Given the description of an element on the screen output the (x, y) to click on. 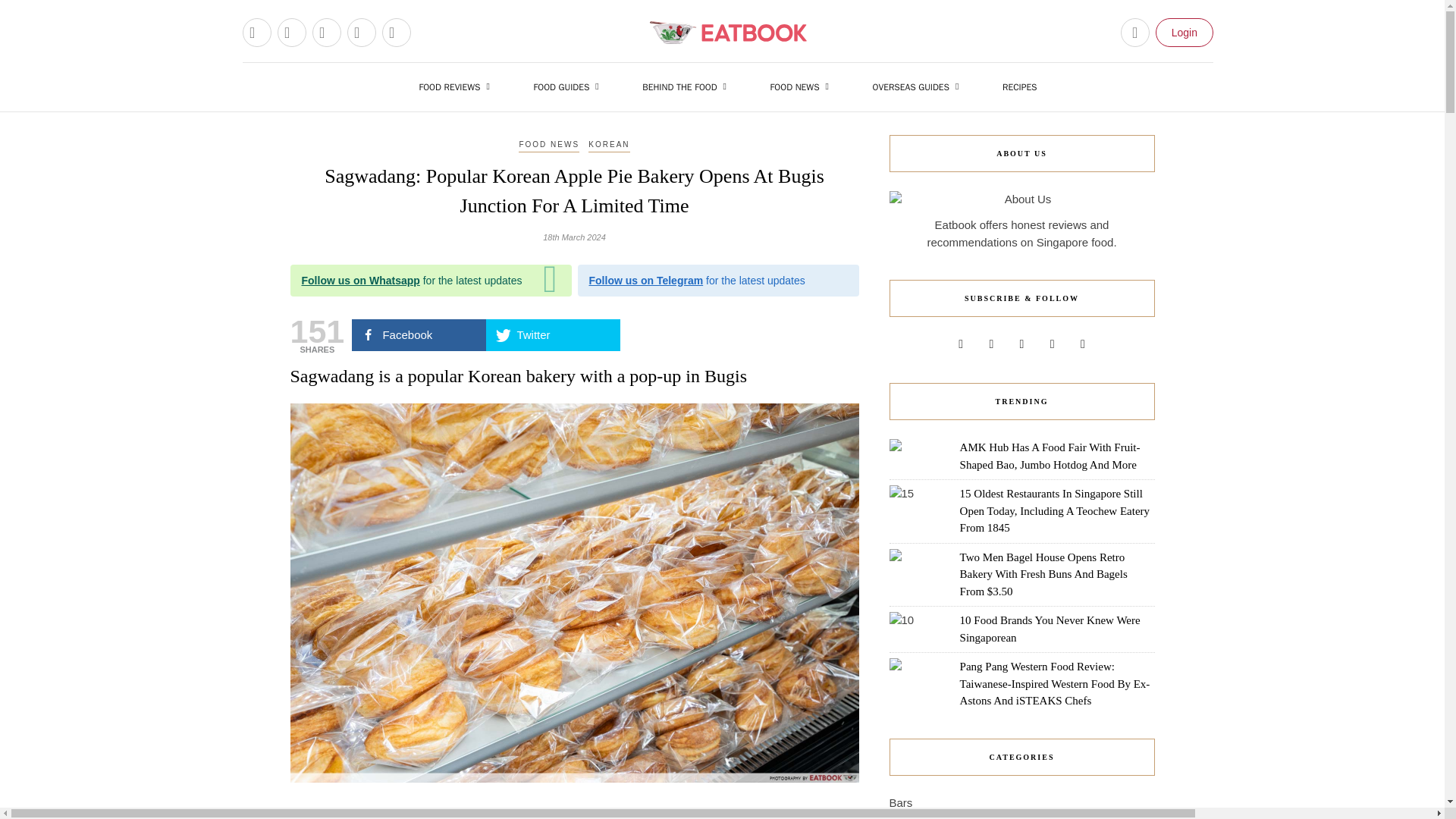
BEHIND THE FOOD (687, 87)
View all posts in Korean (608, 145)
Open search popup (1135, 32)
View all posts in Food News (548, 145)
RECIPES (1019, 87)
FOOD GUIDES (569, 87)
10 Food Brands You Never Knew Were Singaporean (1049, 628)
FOOD REVIEWS (457, 87)
OVERSEAS GUIDES (919, 87)
FOOD NEWS (803, 87)
Login (1184, 32)
